Given the description of an element on the screen output the (x, y) to click on. 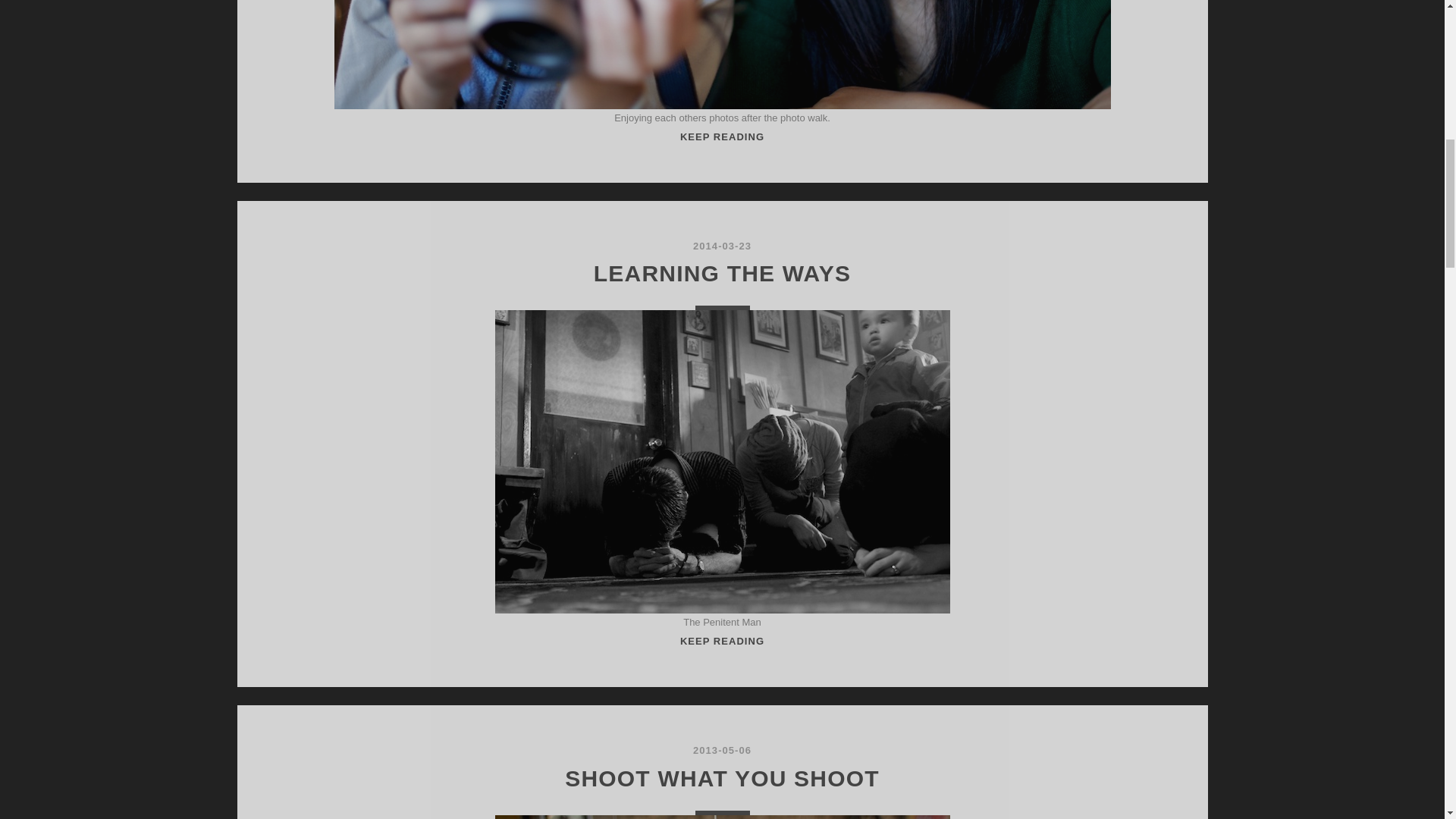
SHOOT WHAT YOU SHOOT (721, 778)
Budding Photographer (721, 641)
